Given the description of an element on the screen output the (x, y) to click on. 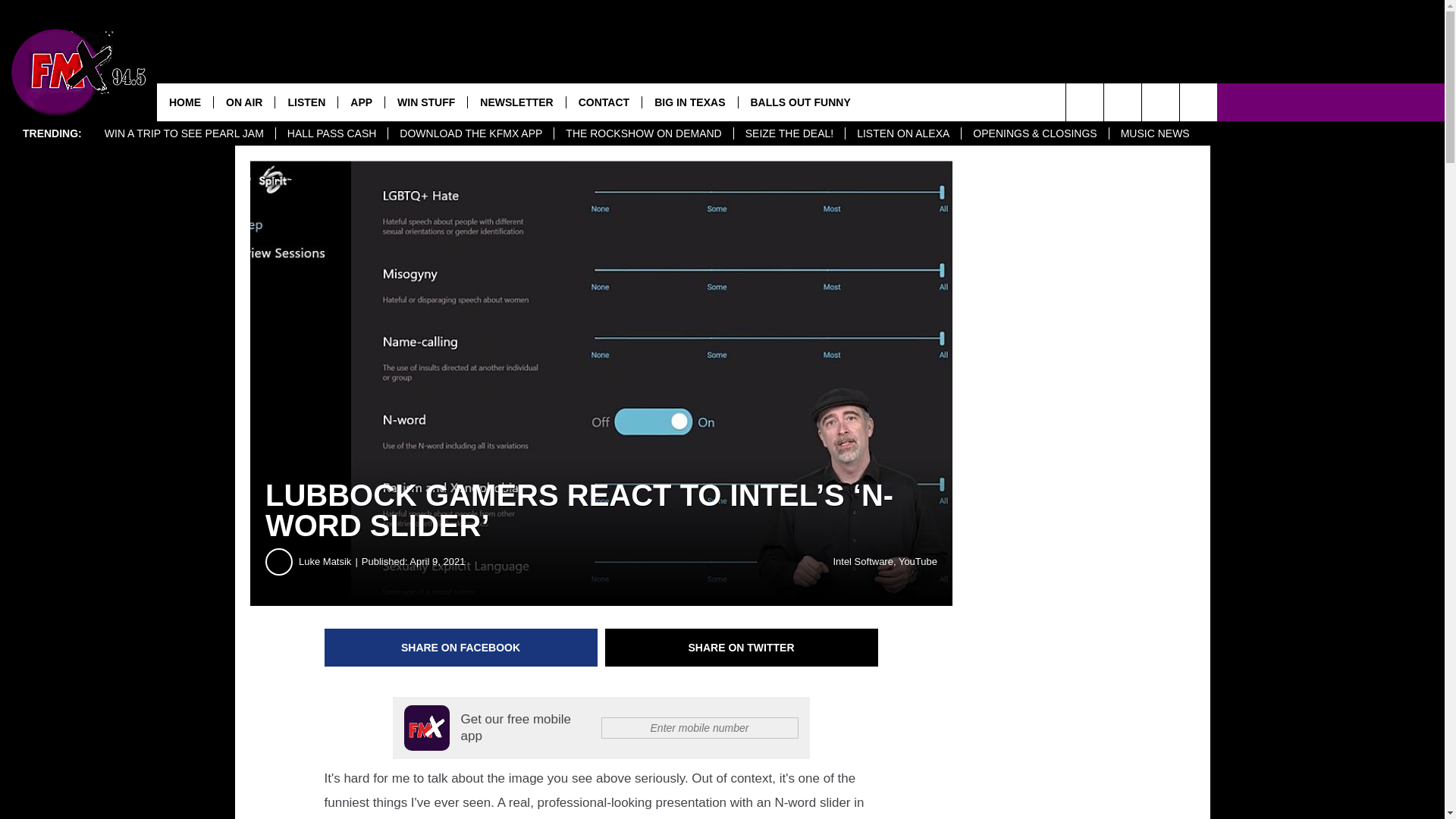
Share on Facebook (460, 647)
MUSIC NEWS (1154, 133)
ON AIR (243, 102)
WIN STUFF (425, 102)
APP (360, 102)
THE ROCKSHOW ON DEMAND (642, 133)
TRENDING: (52, 133)
NEWSLETTER (515, 102)
HALL PASS CASH (331, 133)
DOWNLOAD THE KFMX APP (470, 133)
HOME (184, 102)
Share on Twitter (741, 647)
LISTEN (306, 102)
SEIZE THE DEAL! (788, 133)
WIN A TRIP TO SEE PEARL JAM (184, 133)
